Given the description of an element on the screen output the (x, y) to click on. 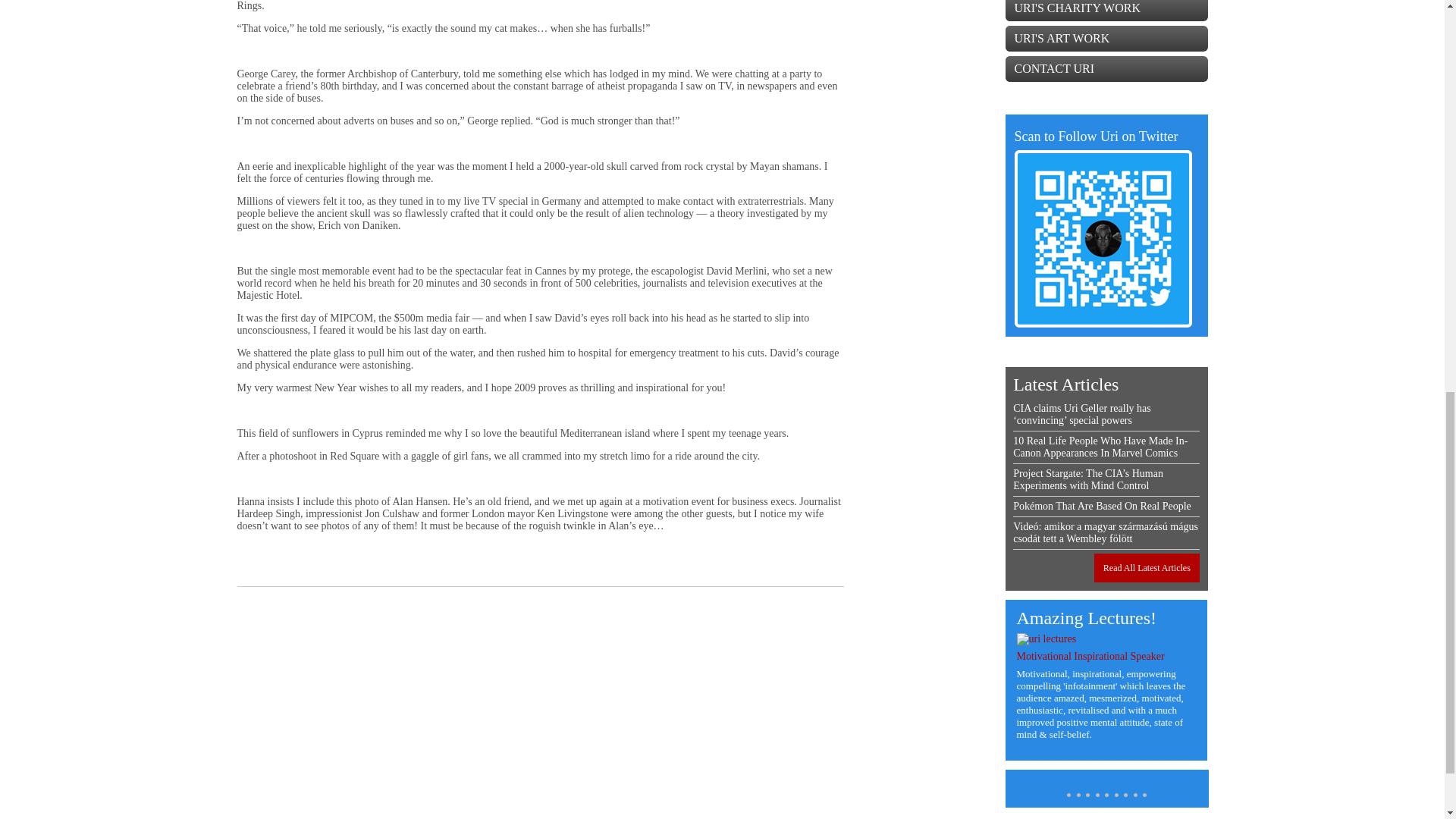
Motivational Inspirational Speaker (1089, 655)
CONTACT URI (1107, 68)
URI'S ART WORK (1107, 38)
URI'S CHARITY WORK (1107, 10)
Read All Latest Articles (1146, 567)
